Given the description of an element on the screen output the (x, y) to click on. 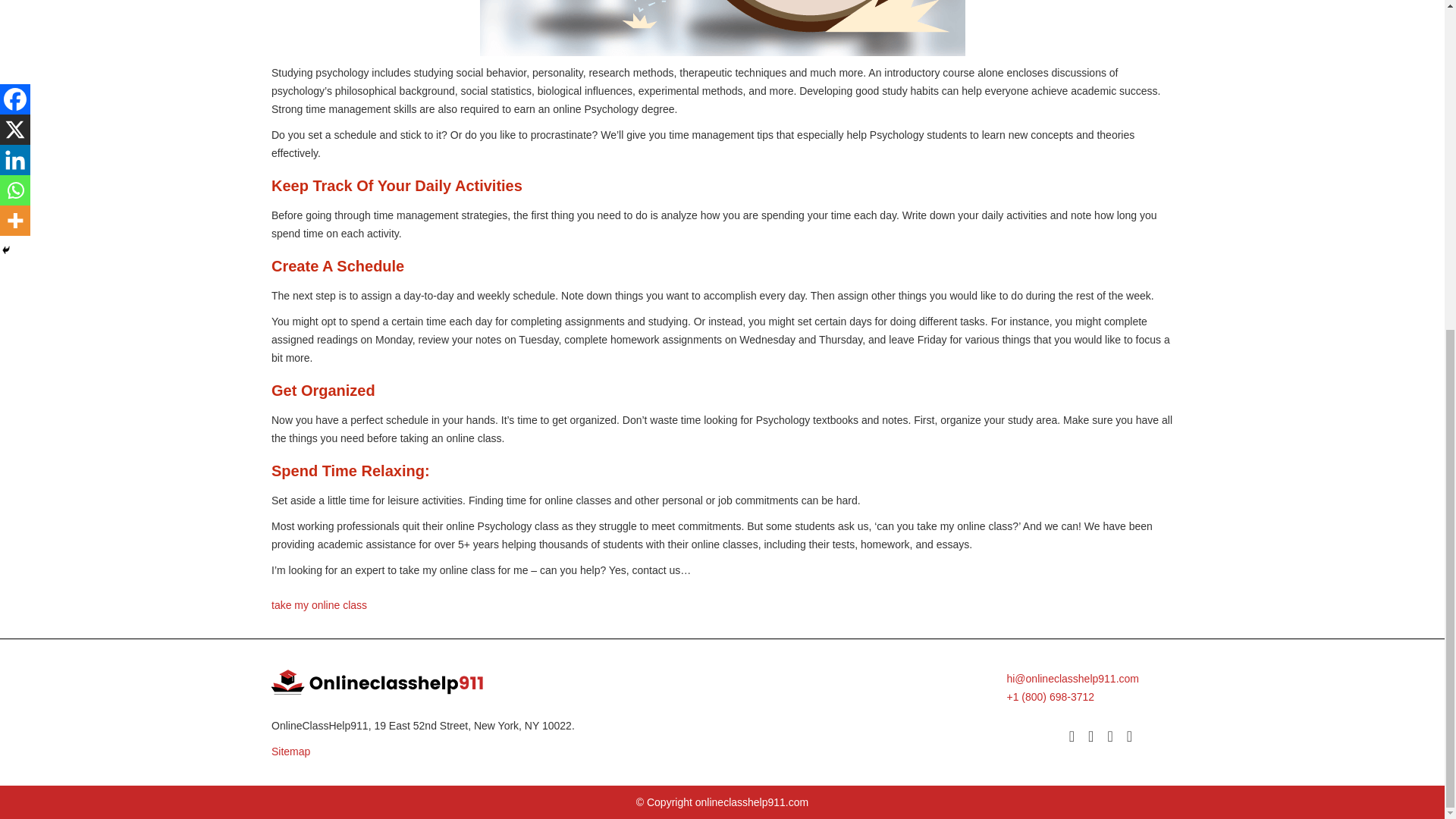
take my online class (964, 525)
take my online class (318, 604)
